Given the description of an element on the screen output the (x, y) to click on. 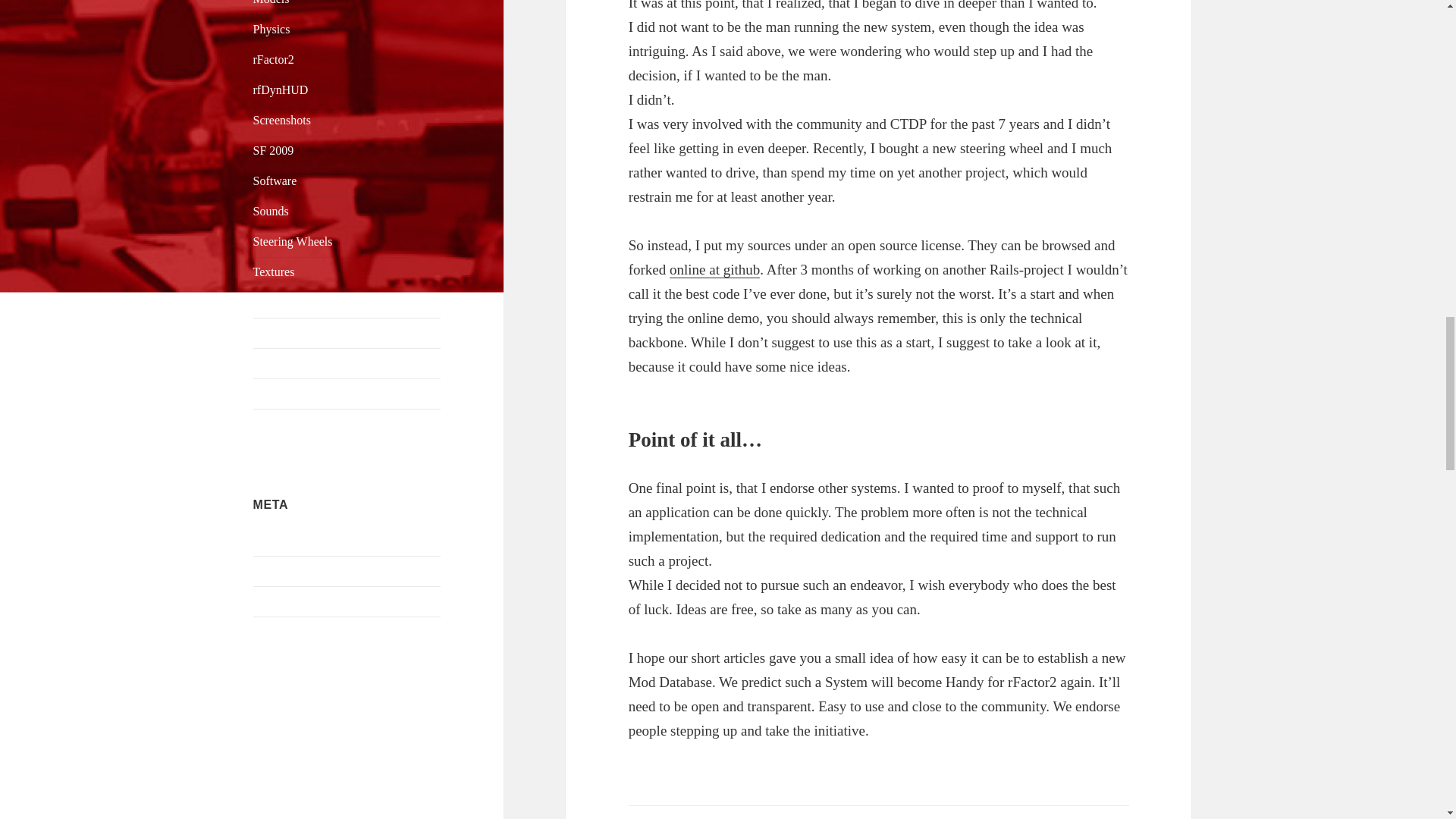
SF 2009 (273, 150)
Textures (274, 271)
Screenshots (282, 119)
rfDynHUD (280, 89)
Sounds (270, 210)
Tracks (269, 301)
Software (275, 180)
Steering Wheels (293, 241)
rFactor2 (273, 59)
Physics (271, 29)
